Given the description of an element on the screen output the (x, y) to click on. 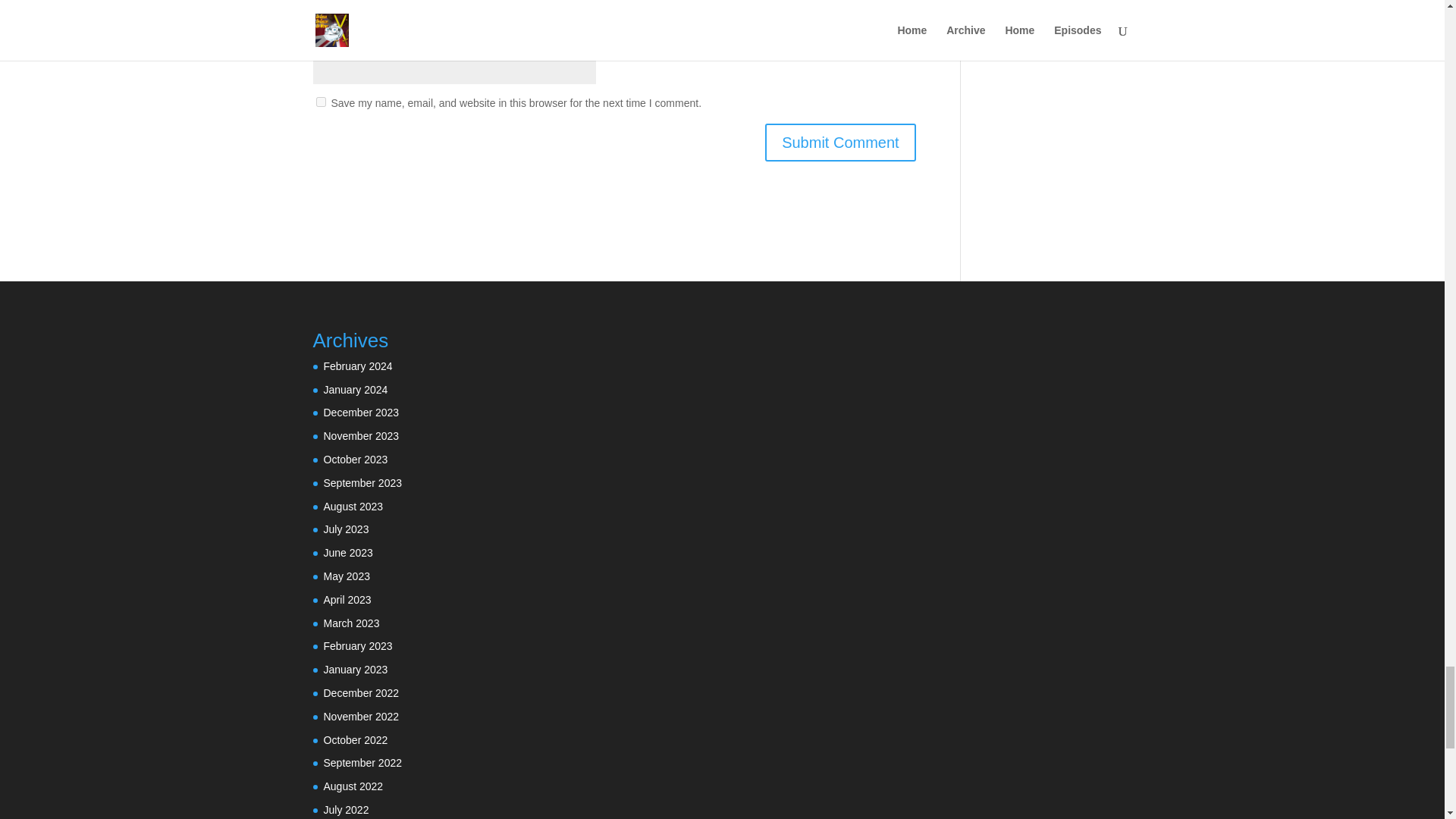
Submit Comment (840, 142)
Submit Comment (840, 142)
yes (319, 102)
